Given the description of an element on the screen output the (x, y) to click on. 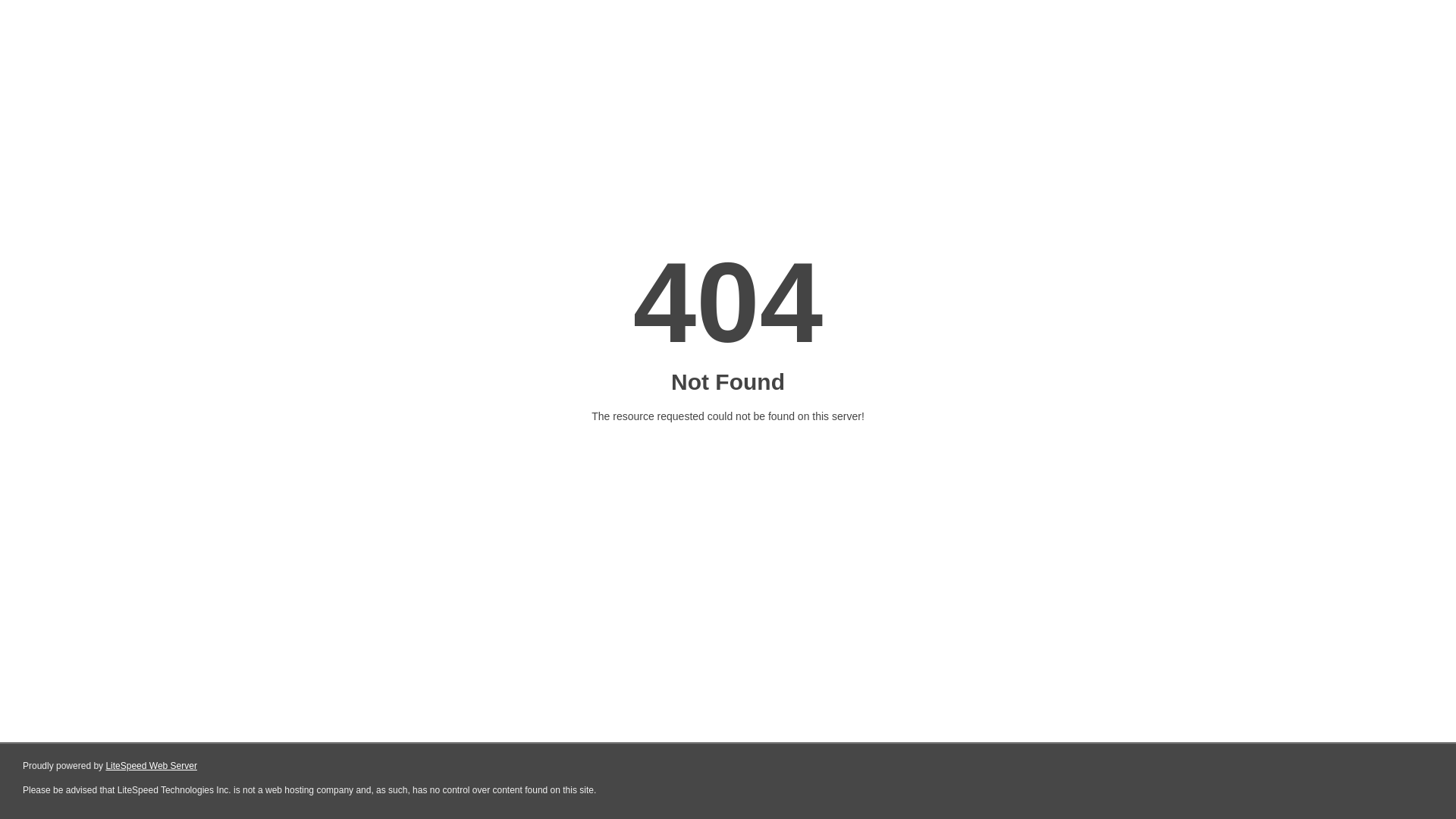
LiteSpeed Web Server Element type: text (151, 765)
